Given the description of an element on the screen output the (x, y) to click on. 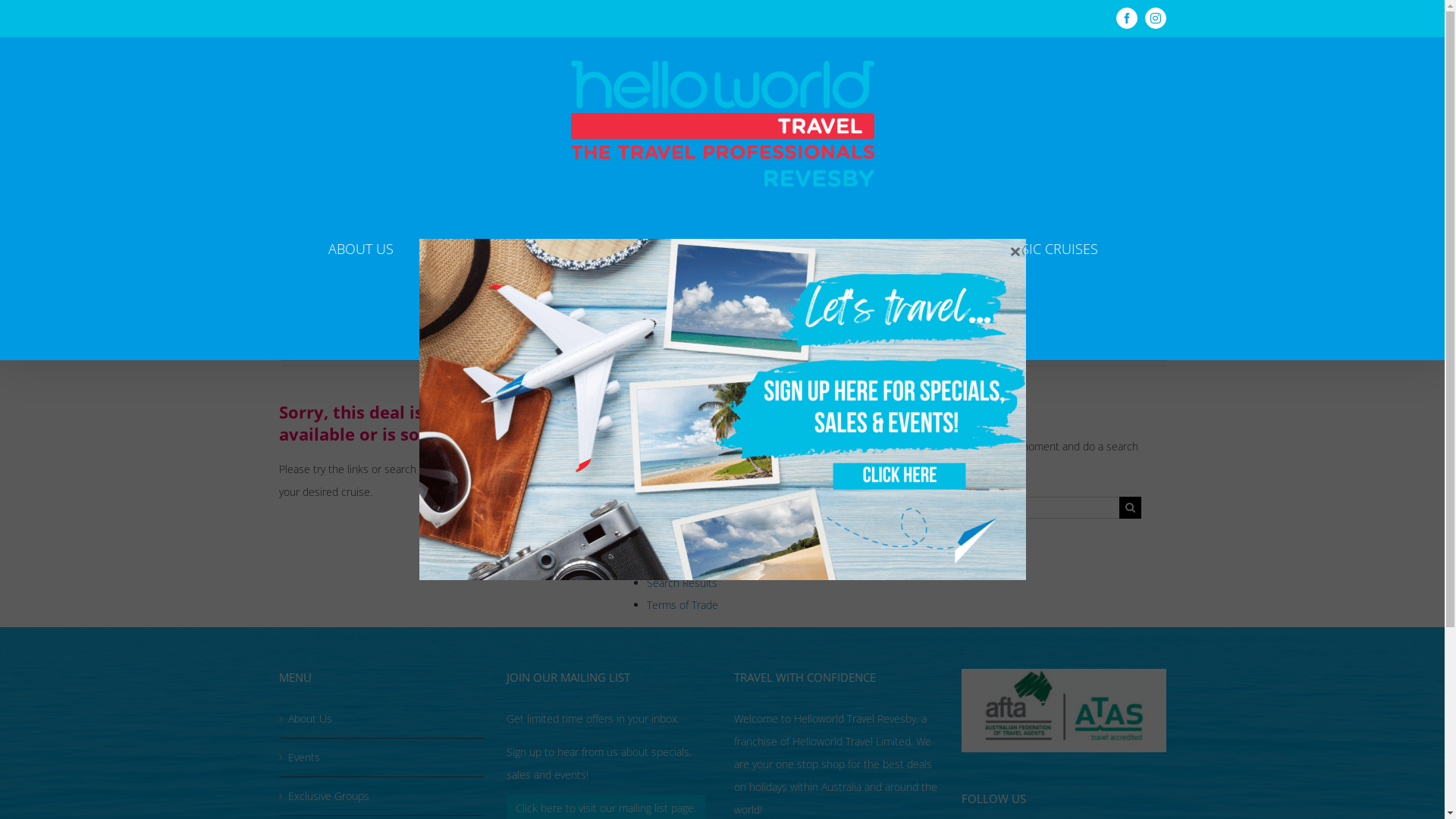
Exclusive Groups Element type: text (382, 795)
CONTACT US Element type: text (712, 327)
Events Element type: text (382, 757)
Exclusive Offers Element type: text (683, 514)
CRUISE DEALS Element type: text (919, 248)
MUSIC CRUISES Element type: text (1048, 248)
Facebook Element type: text (1126, 17)
Terms of Trade Element type: text (681, 604)
Music Cruises Element type: text (679, 559)
Exclusive Groups Element type: text (686, 491)
Events Element type: text (661, 468)
EVENTS Element type: text (450, 248)
Search Results Element type: text (681, 582)
EXCLUSIVE GROUPS Element type: text (570, 248)
Instagram Element type: text (1155, 17)
Home Element type: text (660, 537)
EXCLUSIVE IN-STORE DEALS Element type: text (753, 248)
About Us Element type: text (382, 718)
ABOUT US Element type: text (359, 248)
About Us Element type: text (668, 446)
